Given the description of an element on the screen output the (x, y) to click on. 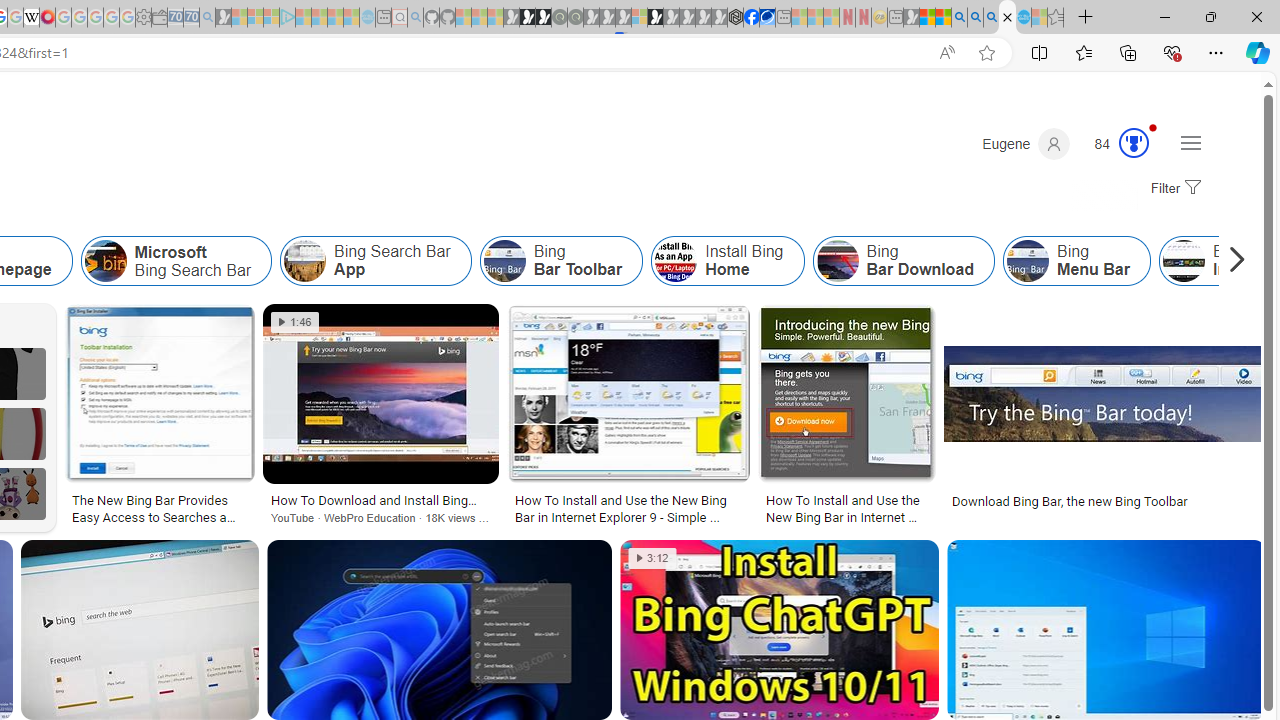
Bing Bar Download (837, 260)
